Given the description of an element on the screen output the (x, y) to click on. 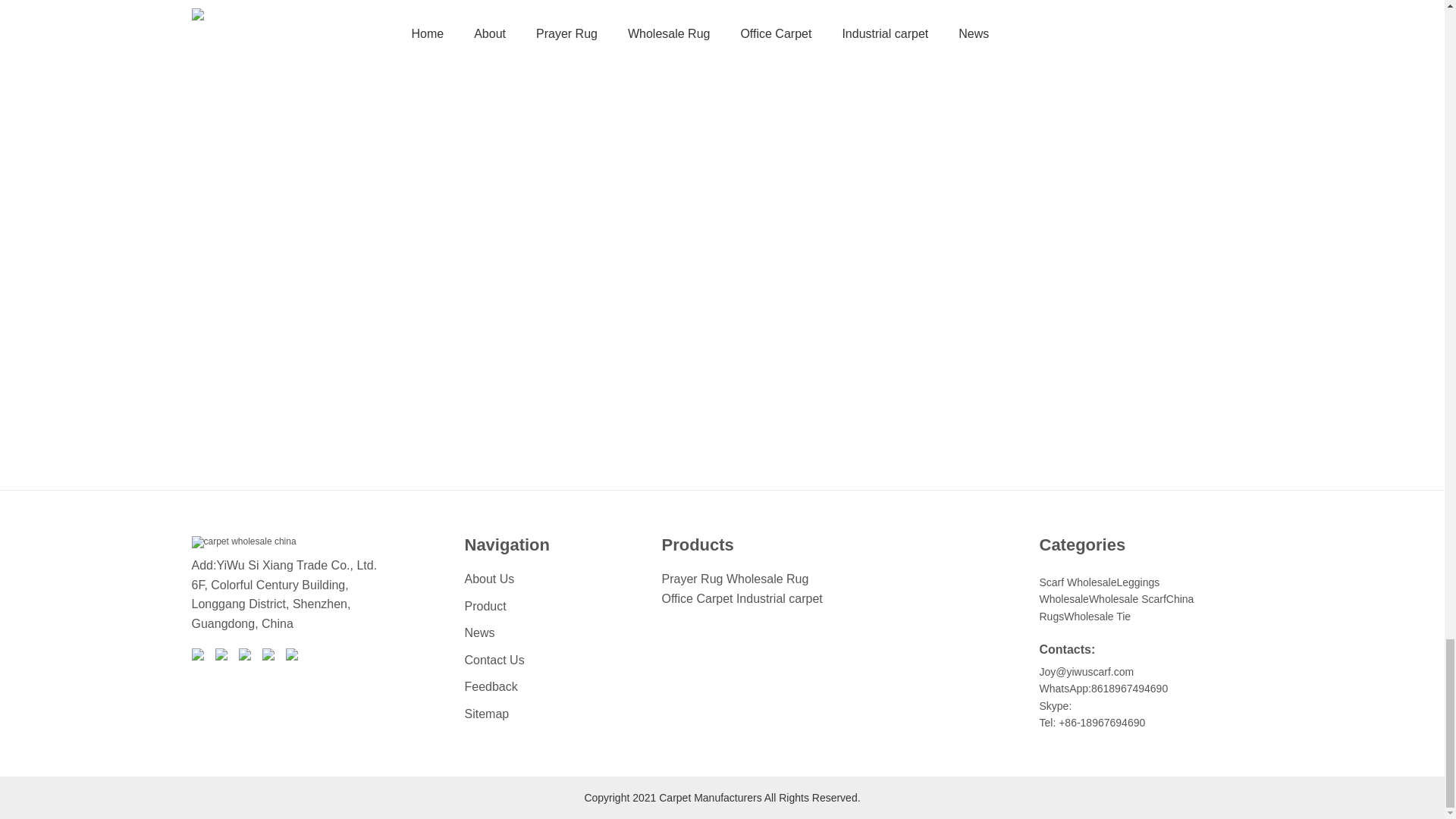
Submit (327, 381)
